Given the description of an element on the screen output the (x, y) to click on. 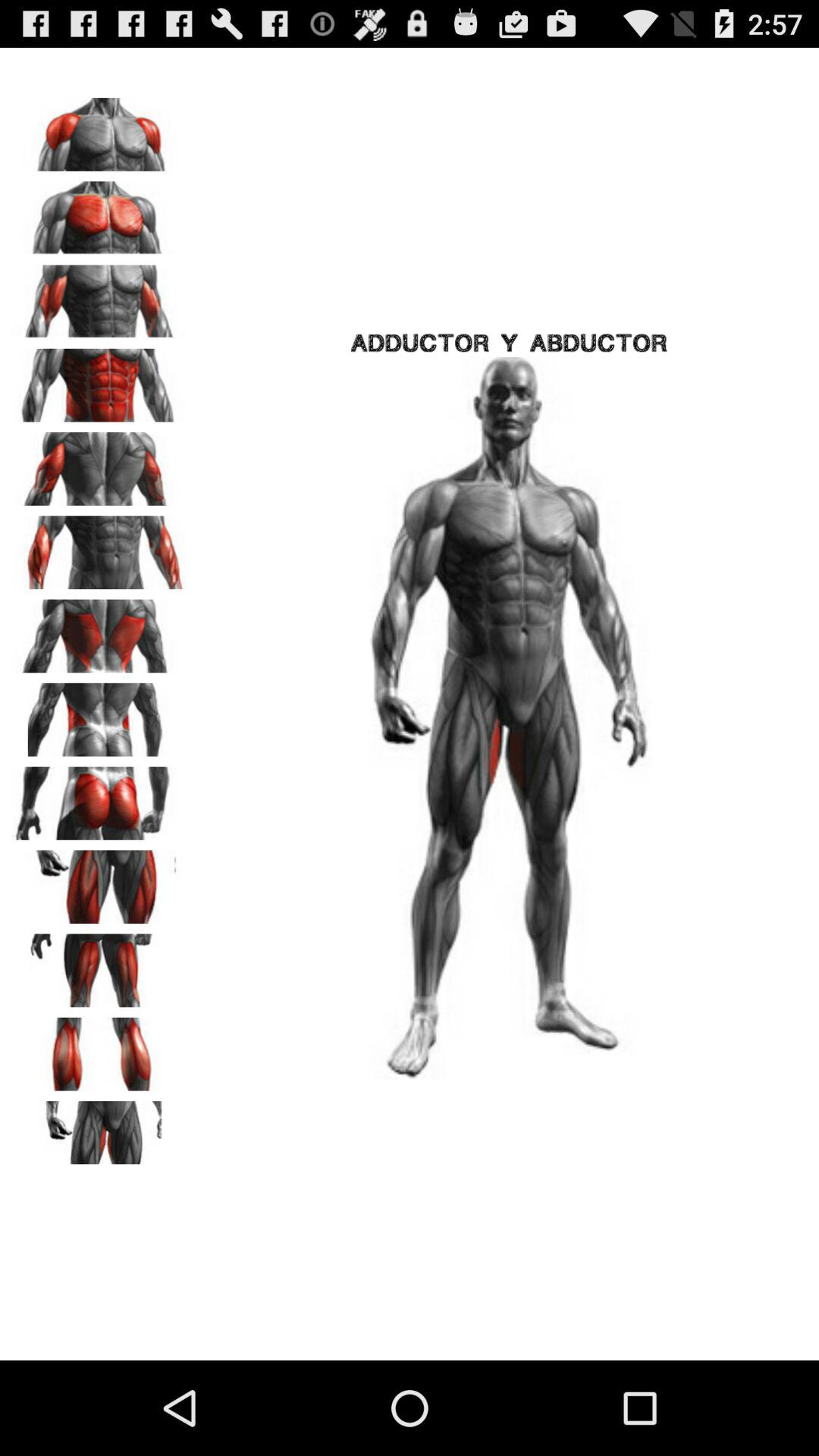
zoom to body part (99, 630)
